Given the description of an element on the screen output the (x, y) to click on. 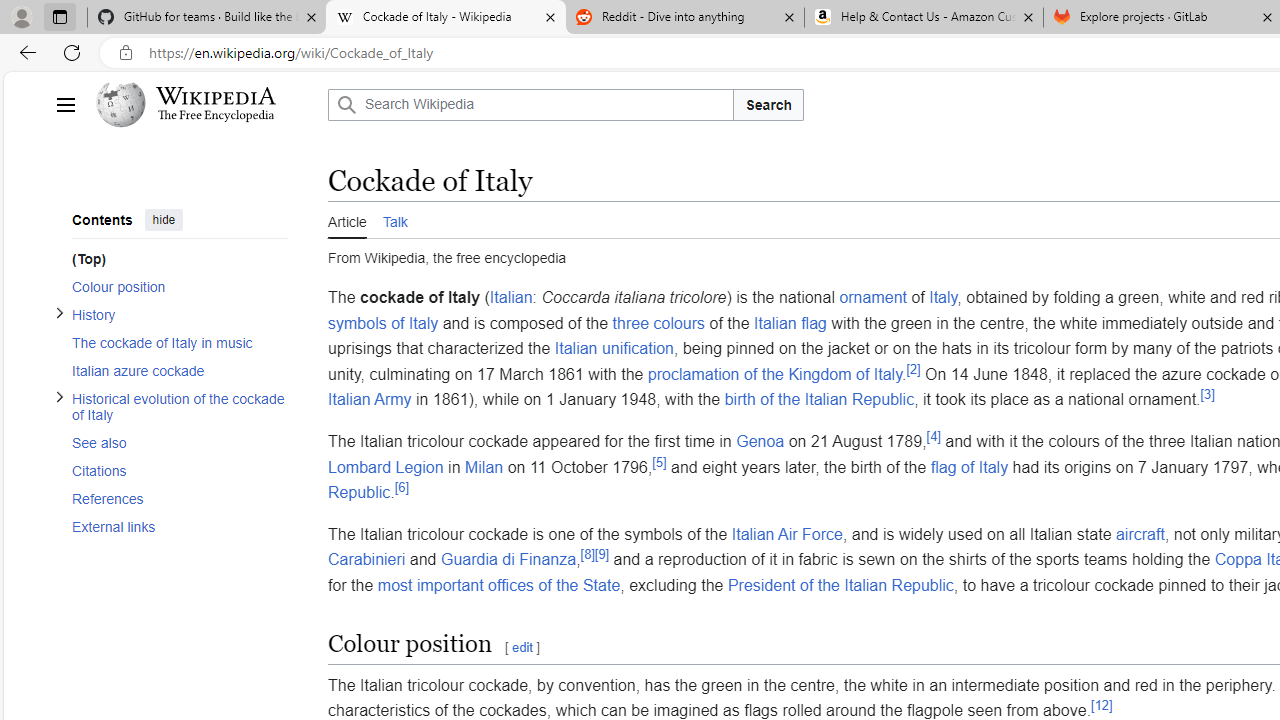
aircraft (1139, 533)
most important offices of the State (498, 585)
(Top) (179, 258)
References (174, 497)
References (179, 497)
Italian azure cockade (174, 370)
External links (174, 525)
ornament (872, 297)
three colours (658, 322)
Italy (943, 297)
Italian unification (614, 348)
The Free Encyclopedia (216, 116)
proclamation of the Kingdom of Italy (774, 374)
Lombard Legion (385, 466)
The cockade of Italy in music (174, 342)
